Given the description of an element on the screen output the (x, y) to click on. 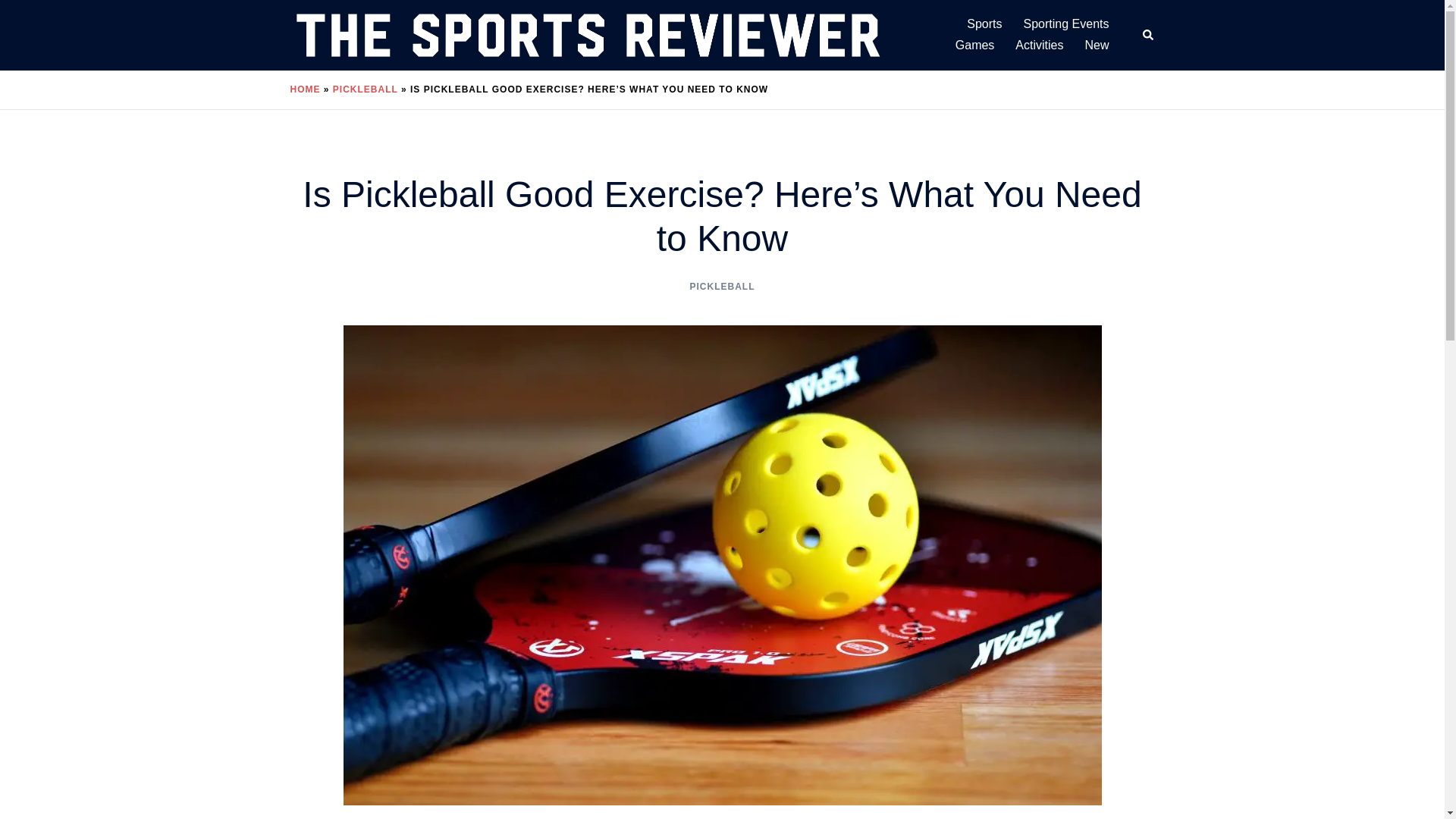
Games (974, 45)
Activities (1038, 45)
PICKLEBALL (365, 89)
HOME (304, 89)
New (1096, 45)
PICKLEBALL (722, 286)
TheSportsReviewer.com (586, 33)
Search (1147, 34)
Sporting Events (1066, 24)
Sports (983, 24)
